Given the description of an element on the screen output the (x, y) to click on. 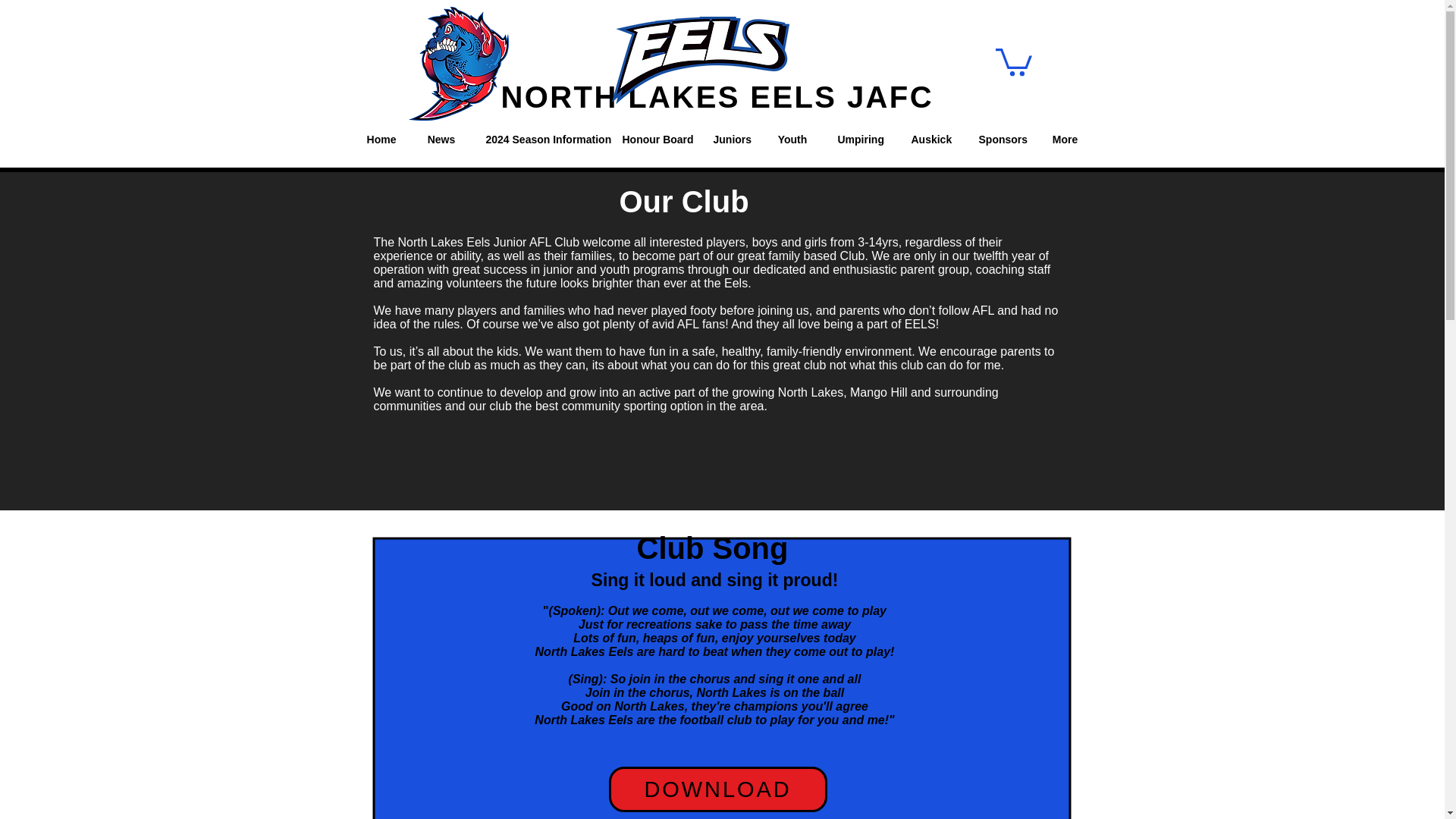
Youth (792, 139)
Umpiring (858, 139)
Juniors (729, 139)
Honour Board (652, 139)
Auskick (929, 139)
NORTH LAKES EELS JAFC (716, 96)
News (441, 139)
DOWNLOAD (717, 789)
2024 Season Information (538, 139)
Sponsors (998, 139)
